Given the description of an element on the screen output the (x, y) to click on. 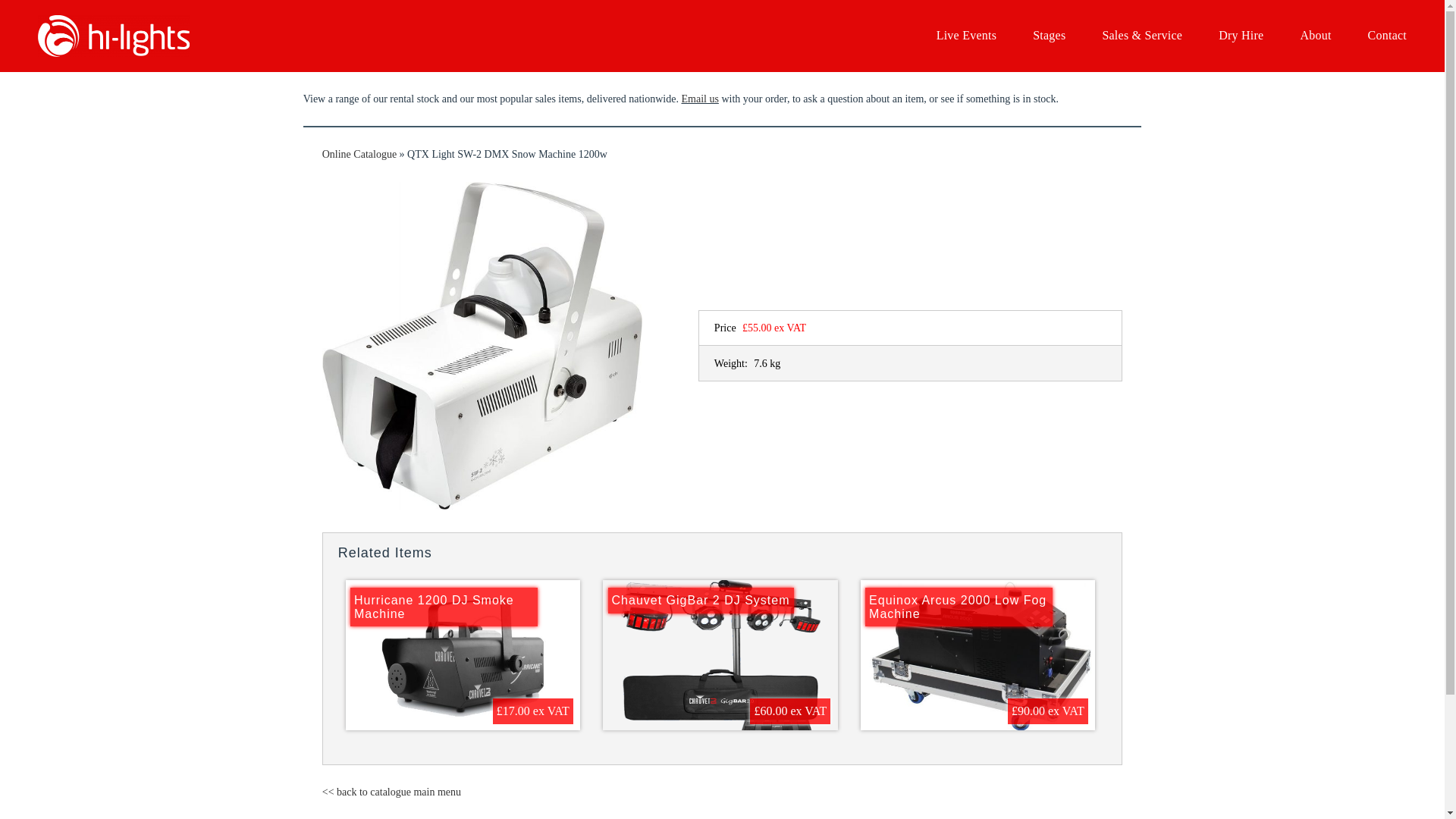
Live Events (966, 35)
Dry Hire (1240, 35)
About (1315, 35)
Online Catalogue (358, 153)
Contact (1387, 35)
Email us (699, 98)
Stages (1048, 35)
